Given the description of an element on the screen output the (x, y) to click on. 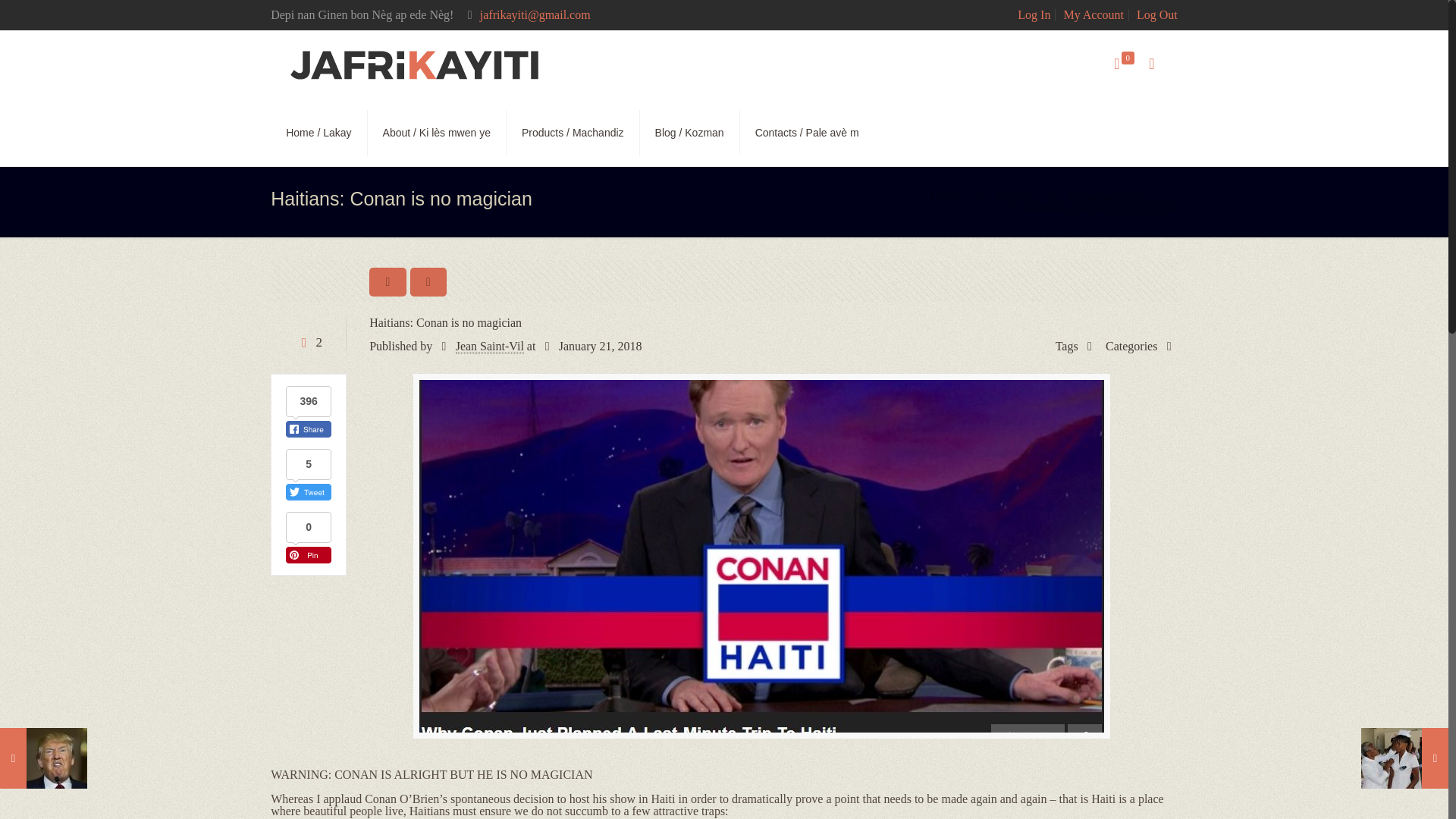
Log Out (1157, 14)
Home (944, 195)
Log In (1033, 14)
Breaking News (1104, 195)
My Account (1093, 14)
2 (307, 341)
English (1013, 195)
0 (1123, 64)
Jean Saint-Vil (489, 345)
